Given the description of an element on the screen output the (x, y) to click on. 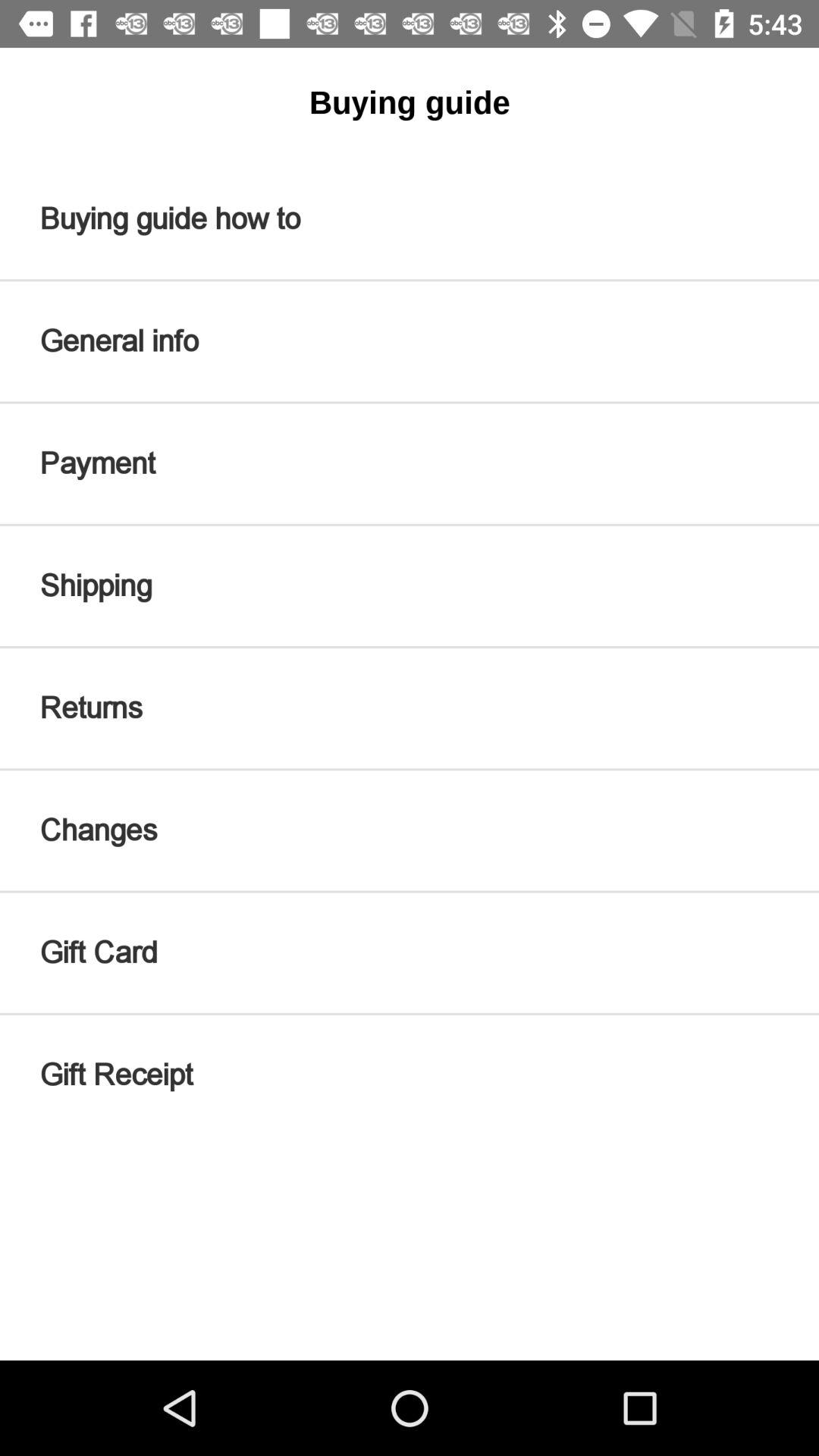
click item below the shipping (409, 708)
